Given the description of an element on the screen output the (x, y) to click on. 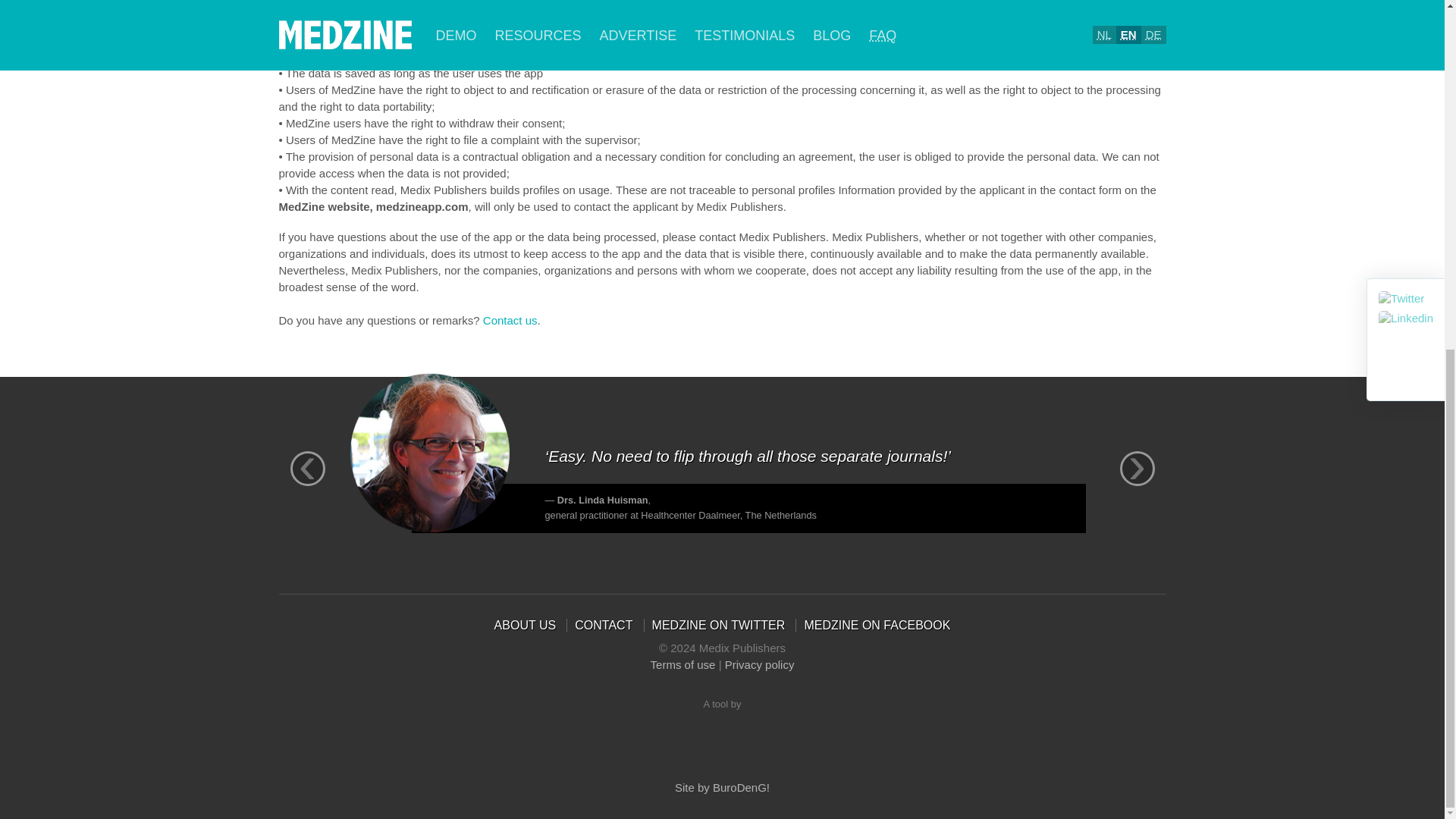
MEDZINE ON TWITTER (719, 625)
MEDZINE ON FACEBOOK (876, 625)
Contact us (510, 318)
CONTACT (603, 625)
ABOUT US (525, 625)
Terms of use (683, 664)
Site by BuroDenG! (722, 787)
Medix (721, 731)
Privacy policy (759, 664)
